Given the description of an element on the screen output the (x, y) to click on. 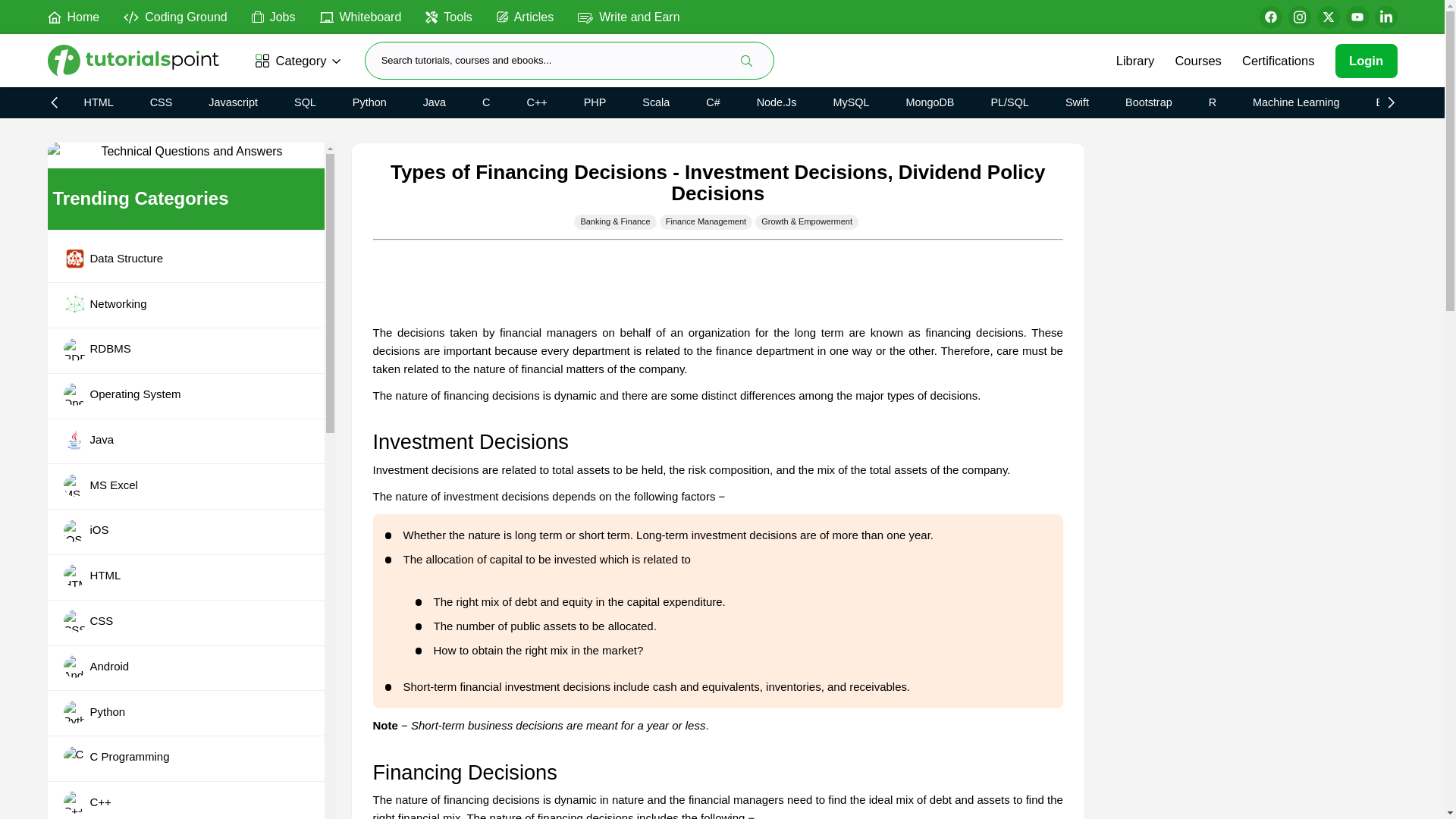
C Tutorial (486, 101)
Switch theme (1218, 16)
Home (72, 16)
Scala Tutorial (655, 101)
Follow on Twitter (1327, 16)
Scroll left (55, 102)
SQL Tutorial (305, 101)
Tools (448, 16)
Subscribe to our Youtube Channel (1356, 16)
Follow on LinkedIn (1385, 16)
Search Tutorials (746, 60)
PHP Tutorial (595, 101)
Jobs (273, 16)
HTML Tutorial (98, 101)
Python Tutorial (369, 101)
